Given the description of an element on the screen output the (x, y) to click on. 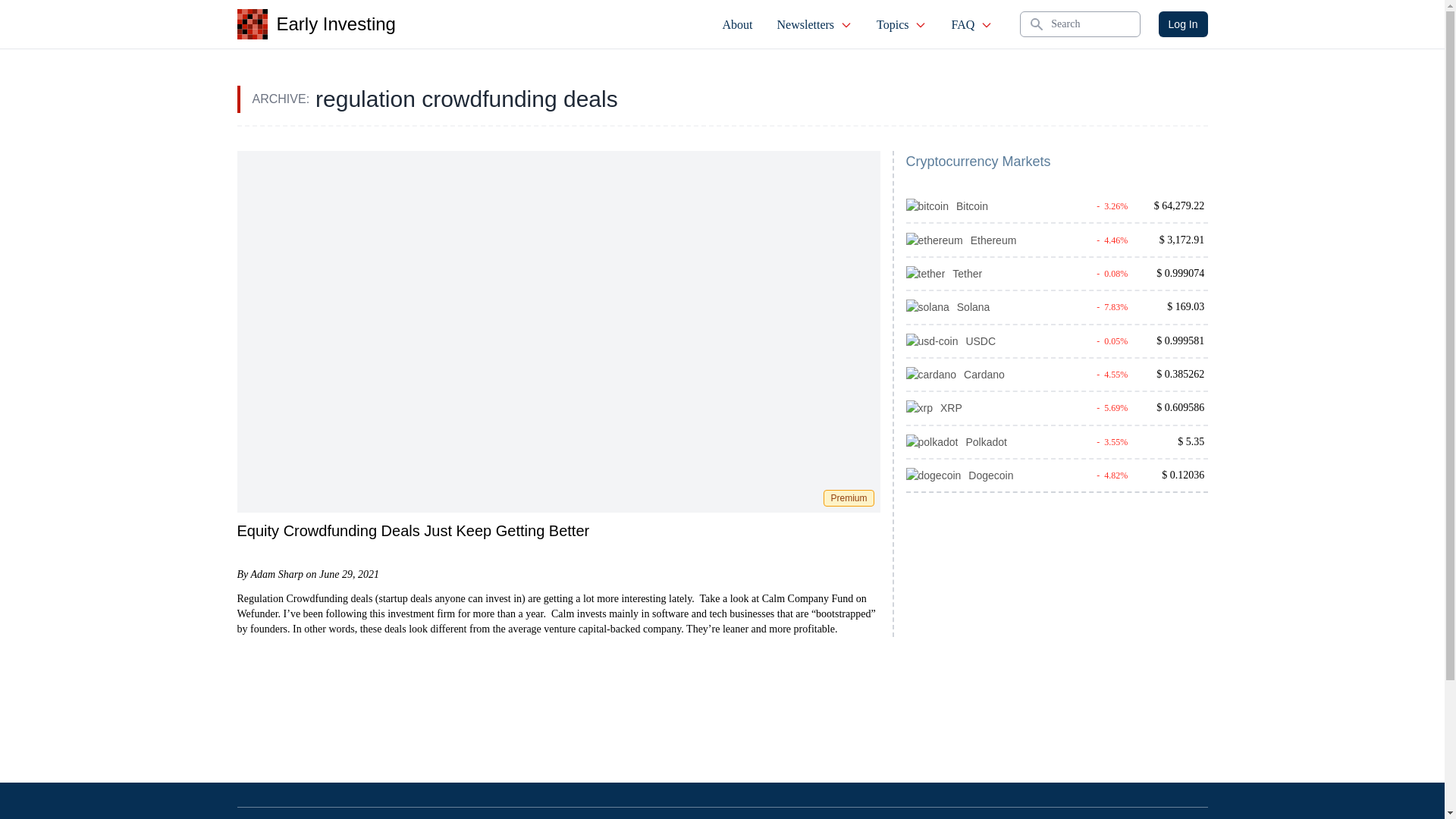
Topics (901, 24)
Equity Crowdfunding Deals Just Keep Getting Better (412, 530)
FAQ (971, 24)
Log In (1183, 23)
Early Investing (314, 24)
Newsletters (814, 24)
